Given the description of an element on the screen output the (x, y) to click on. 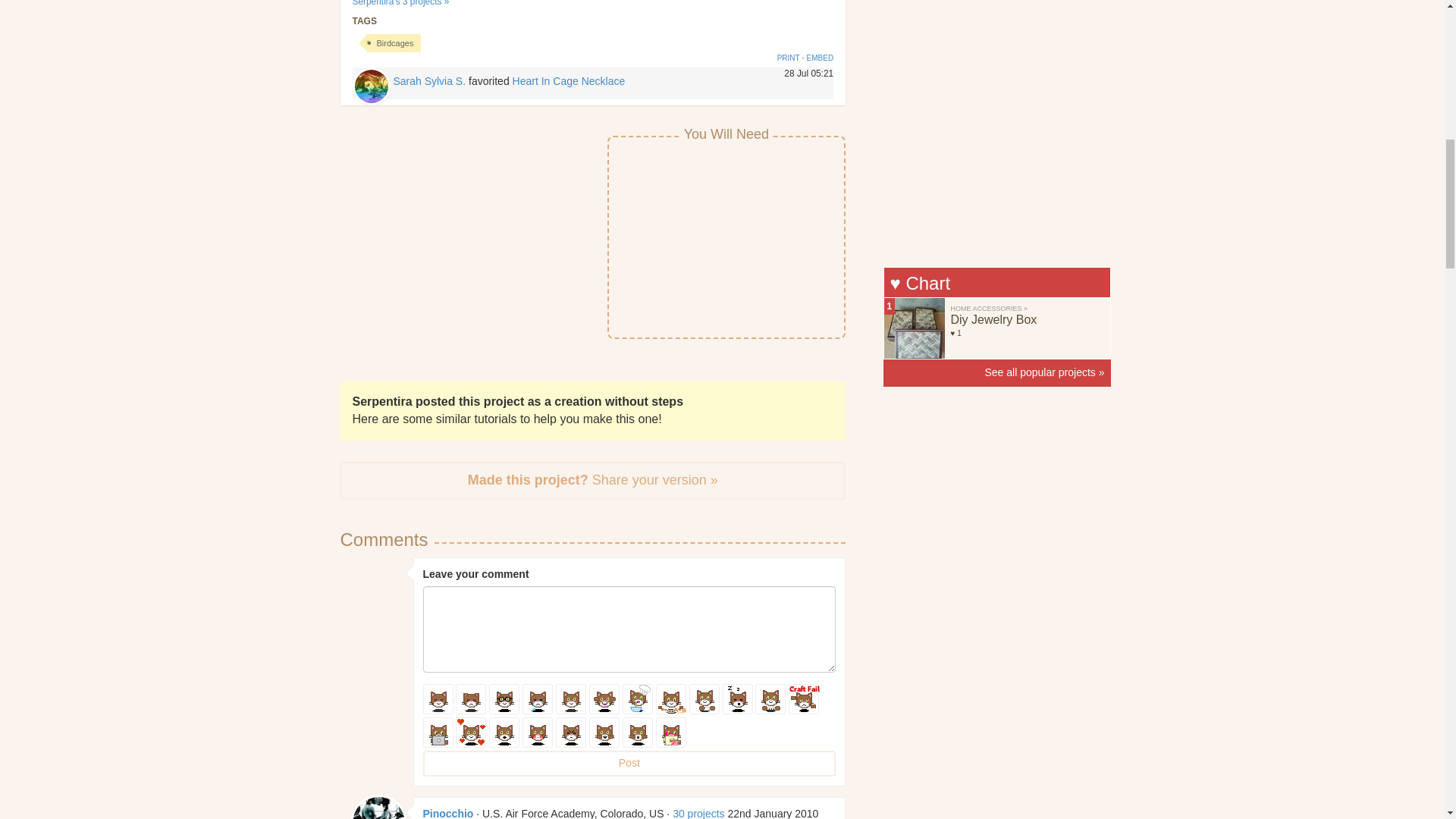
Post (629, 763)
